Given the description of an element on the screen output the (x, y) to click on. 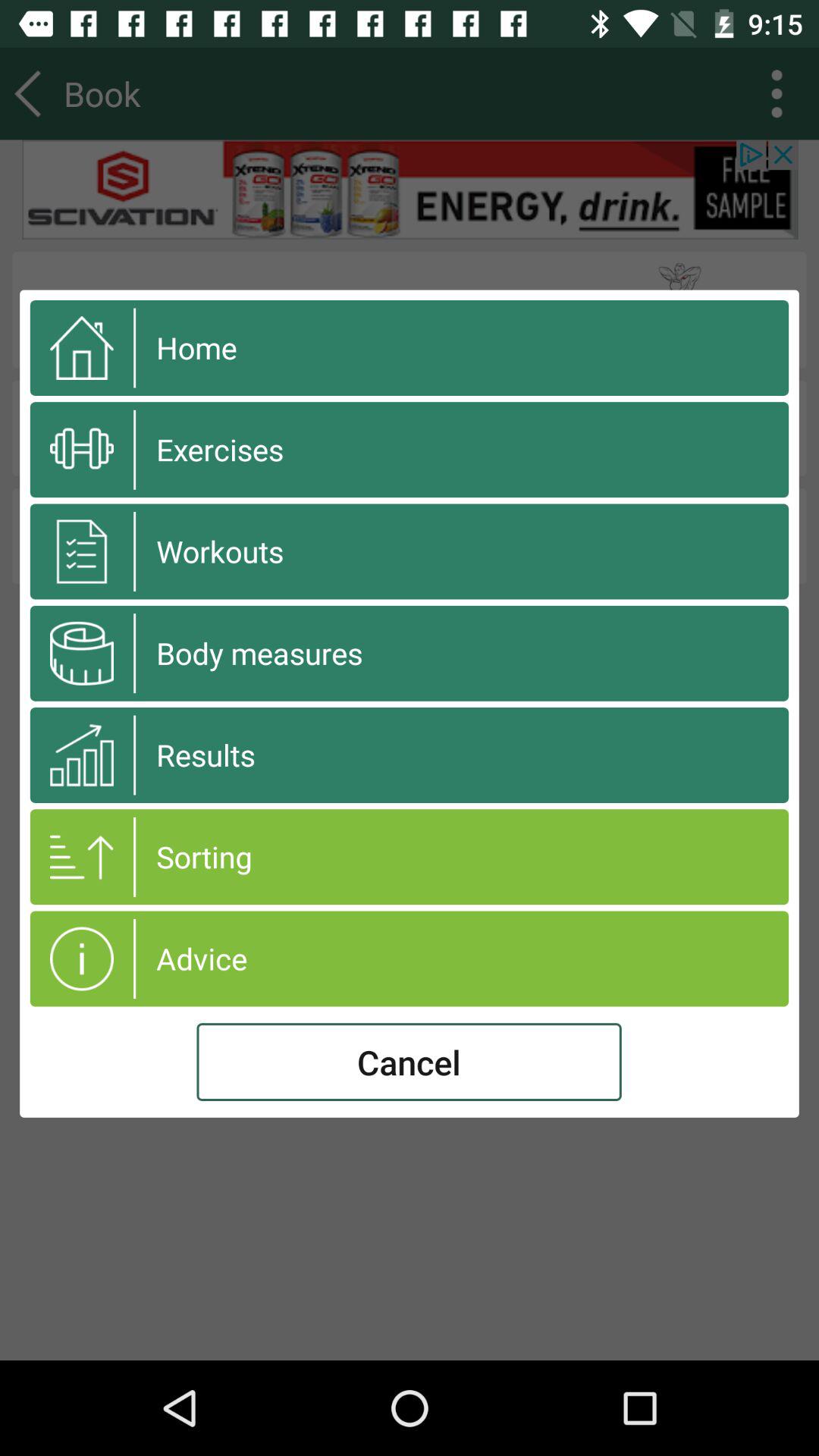
turn on the icon below the advice app (408, 1062)
